Given the description of an element on the screen output the (x, y) to click on. 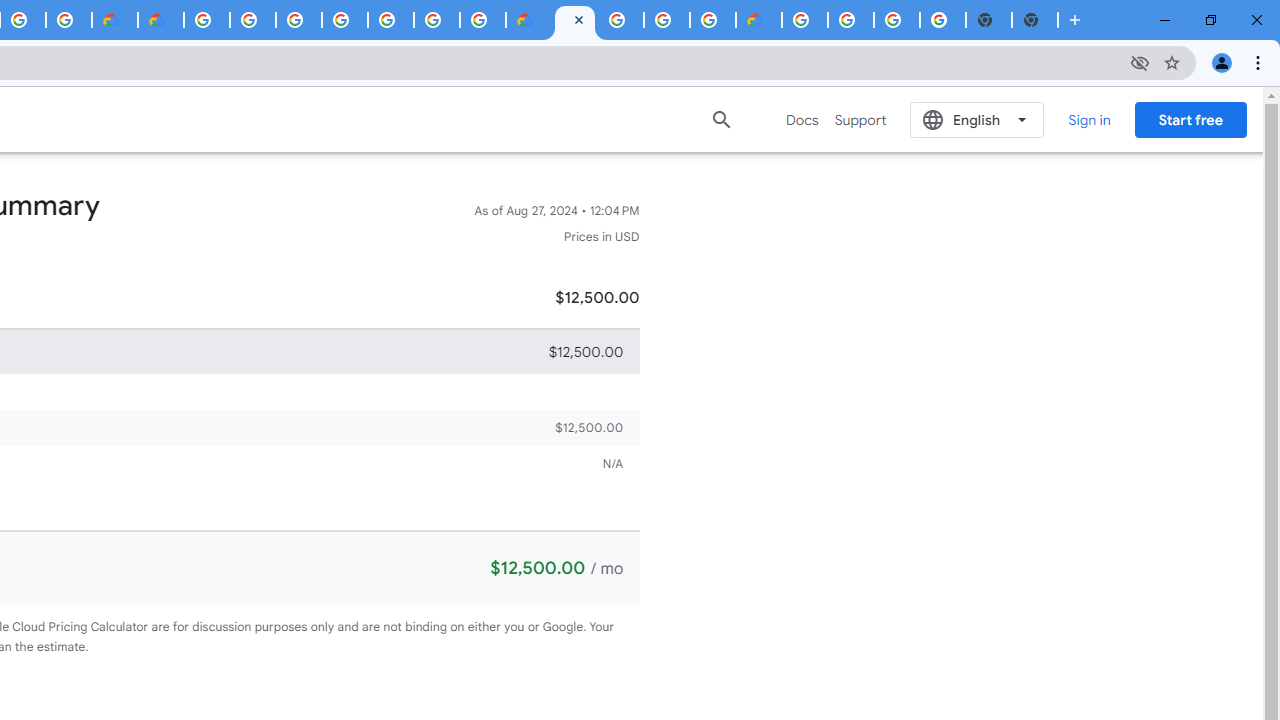
Google Cloud Estimate Summary (574, 20)
Customer Care | Google Cloud (528, 20)
Google Cloud Service Health (759, 20)
New Tab (1035, 20)
Google Cloud Platform (851, 20)
Browse Chrome as a guest - Computer - Google Chrome Help (712, 20)
